Given the description of an element on the screen output the (x, y) to click on. 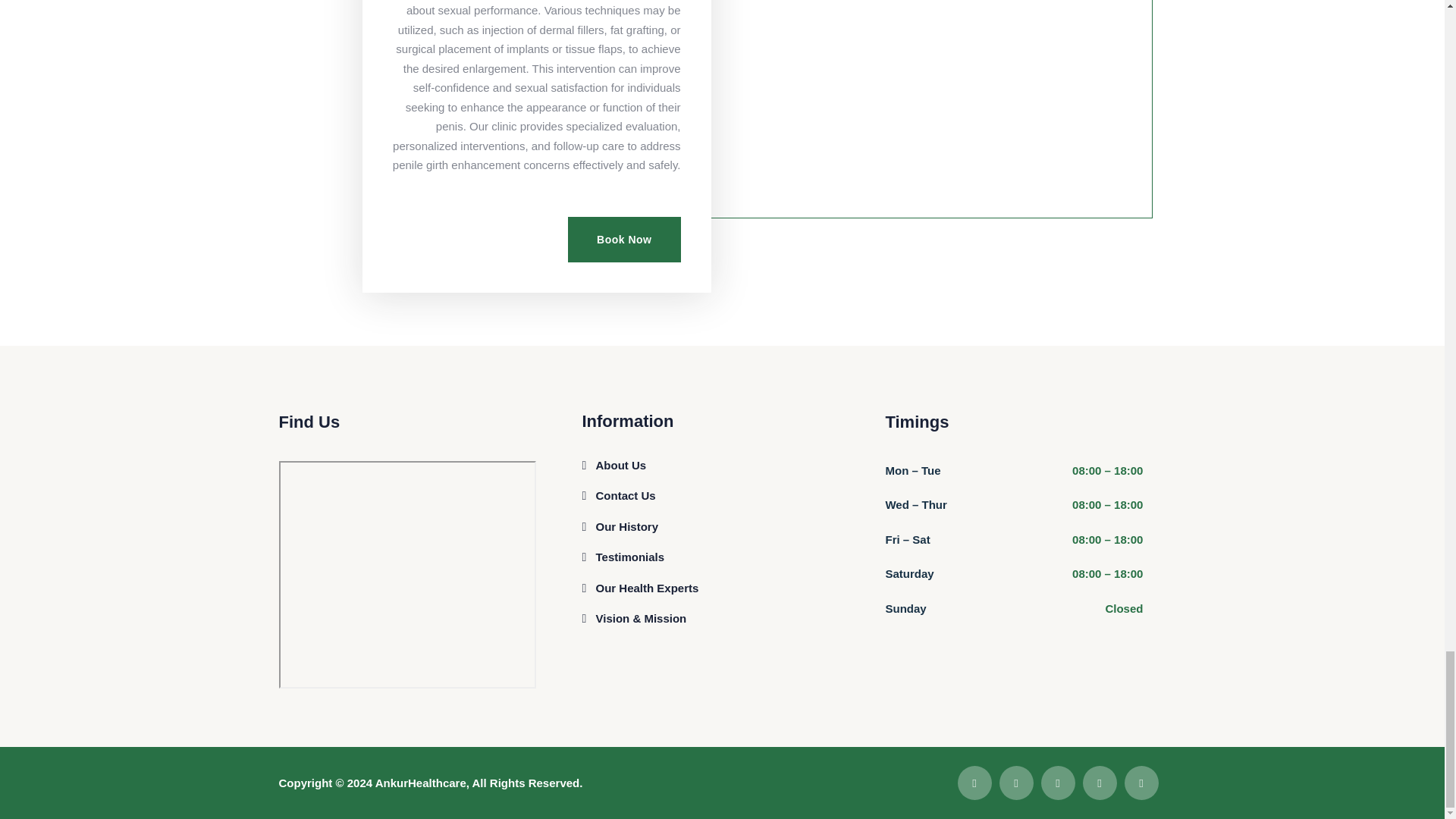
Google Map (408, 573)
